Given the description of an element on the screen output the (x, y) to click on. 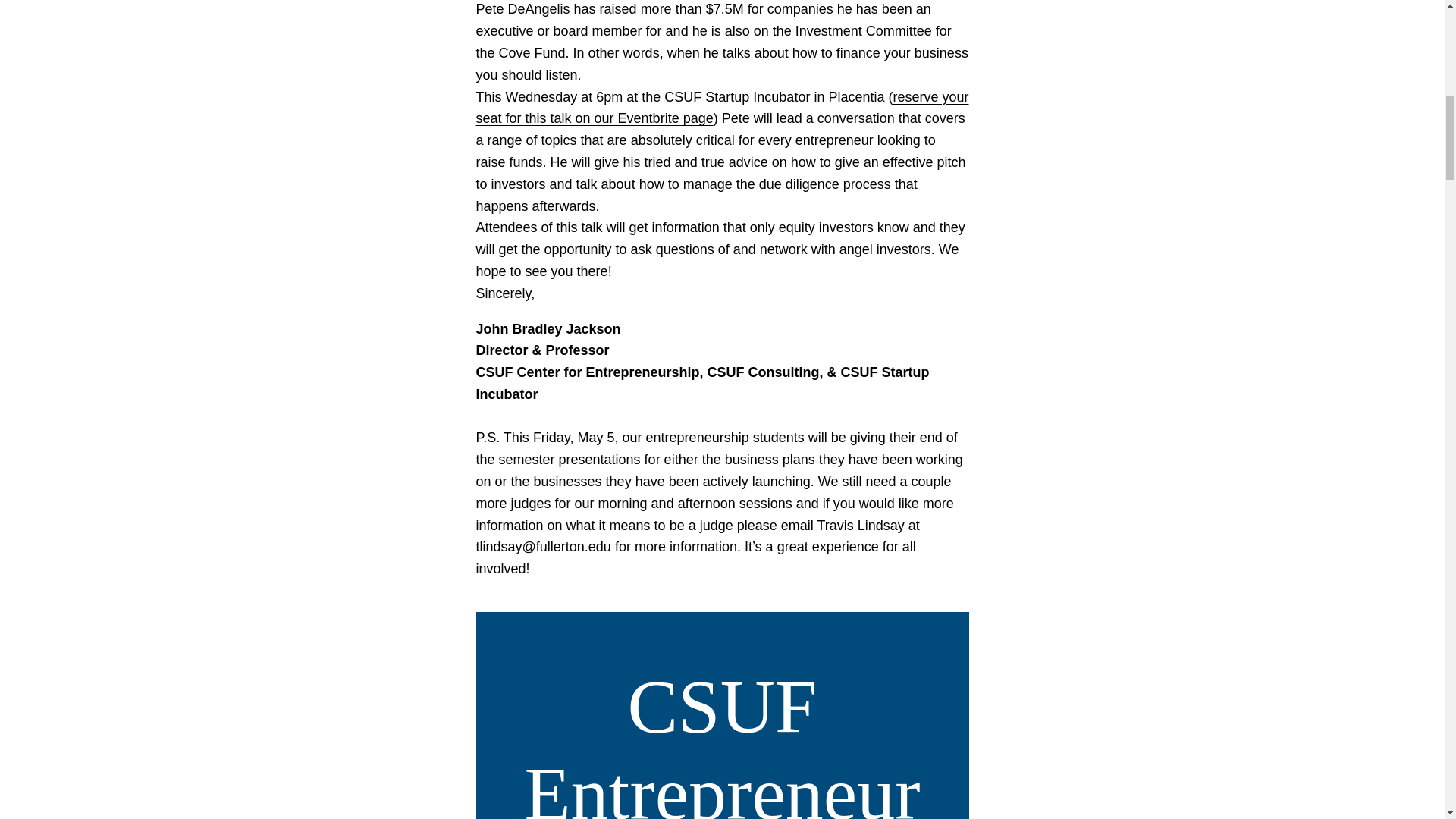
CSUF Entrepreneur Speaker Series (721, 741)
reserve your seat for this talk on our Eventbrite page (722, 107)
